Given the description of an element on the screen output the (x, y) to click on. 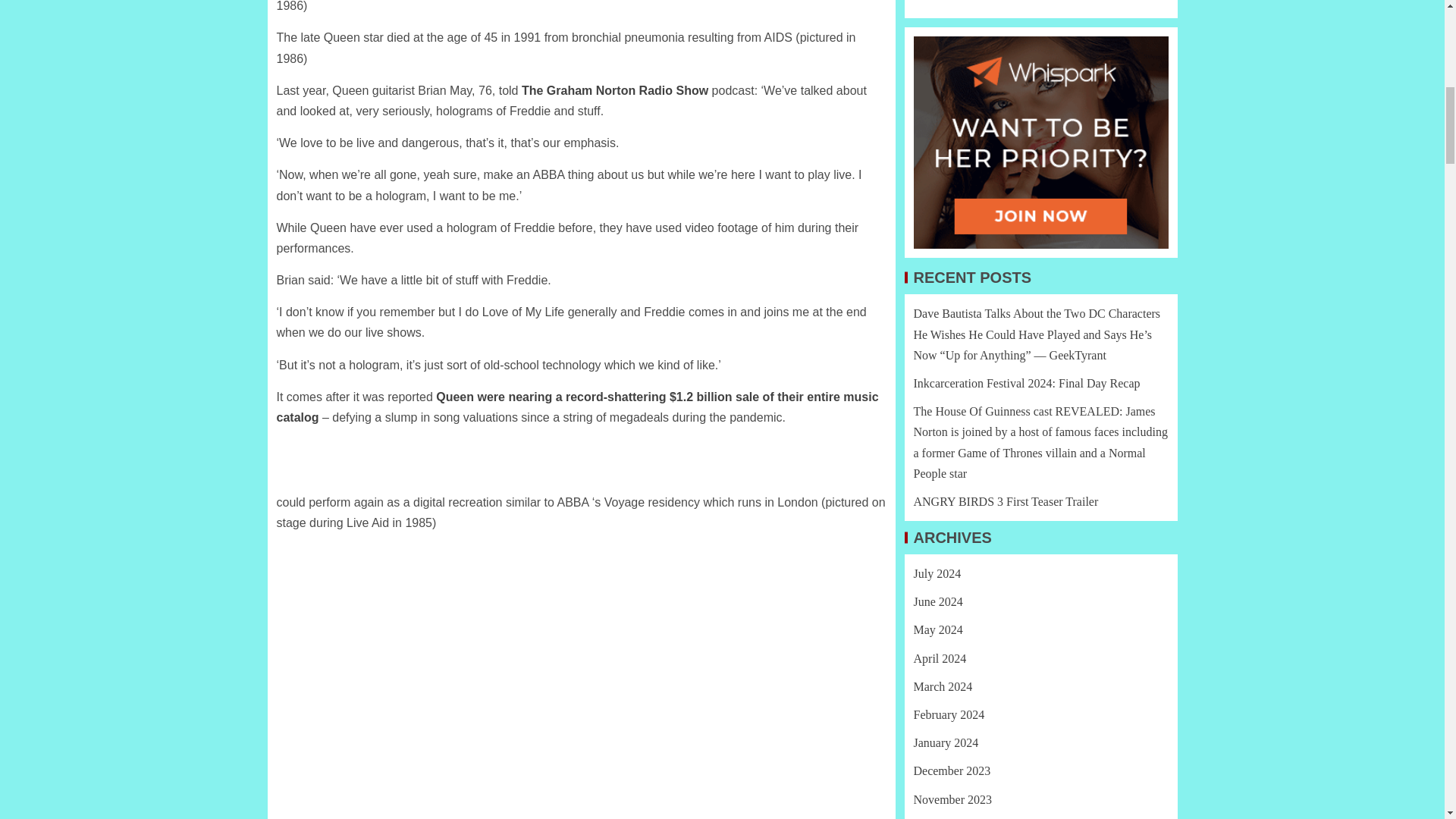
The Graham Norton Radio Show (614, 90)
